Given the description of an element on the screen output the (x, y) to click on. 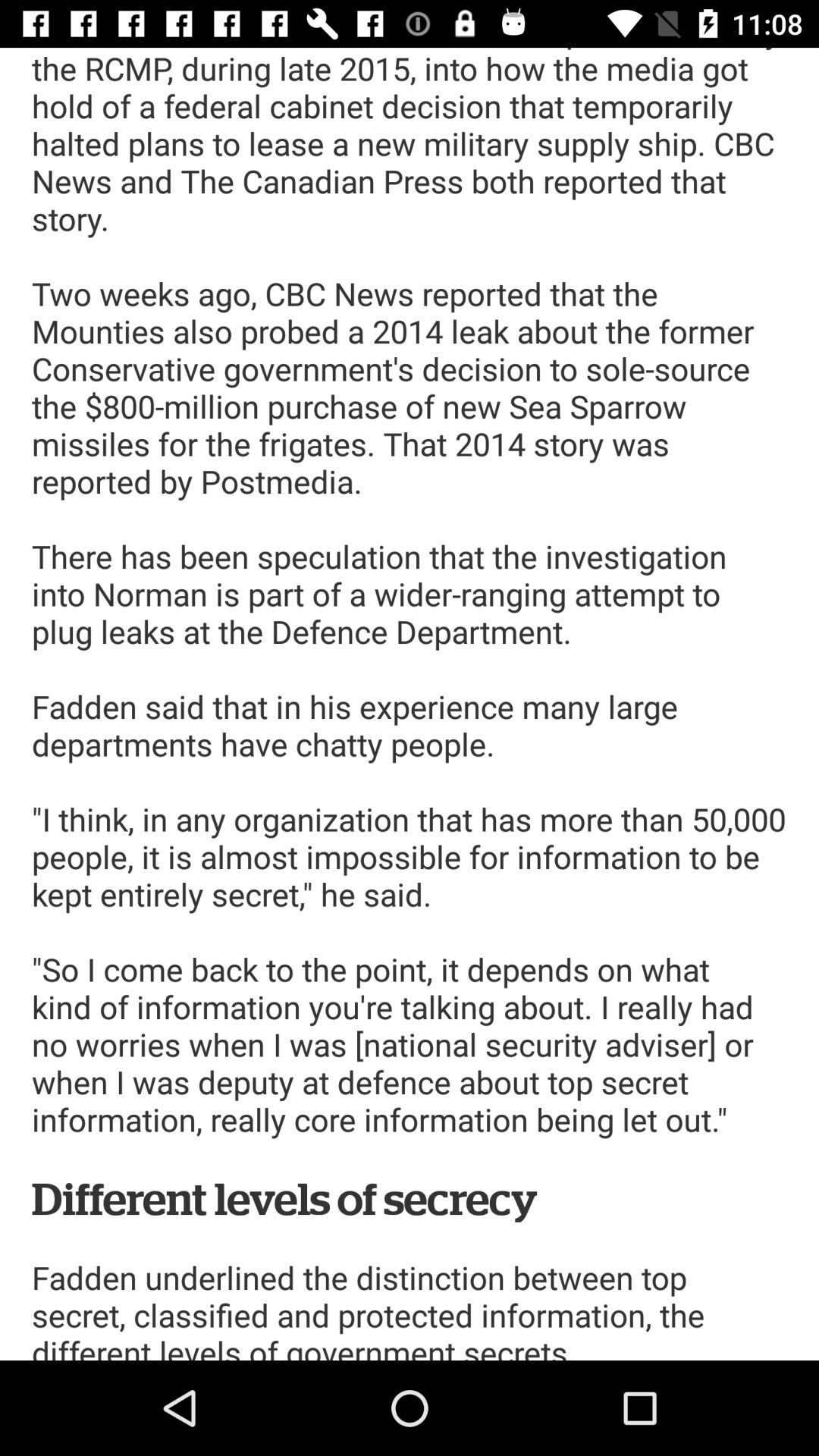
choose i think that (409, 703)
